Given the description of an element on the screen output the (x, y) to click on. 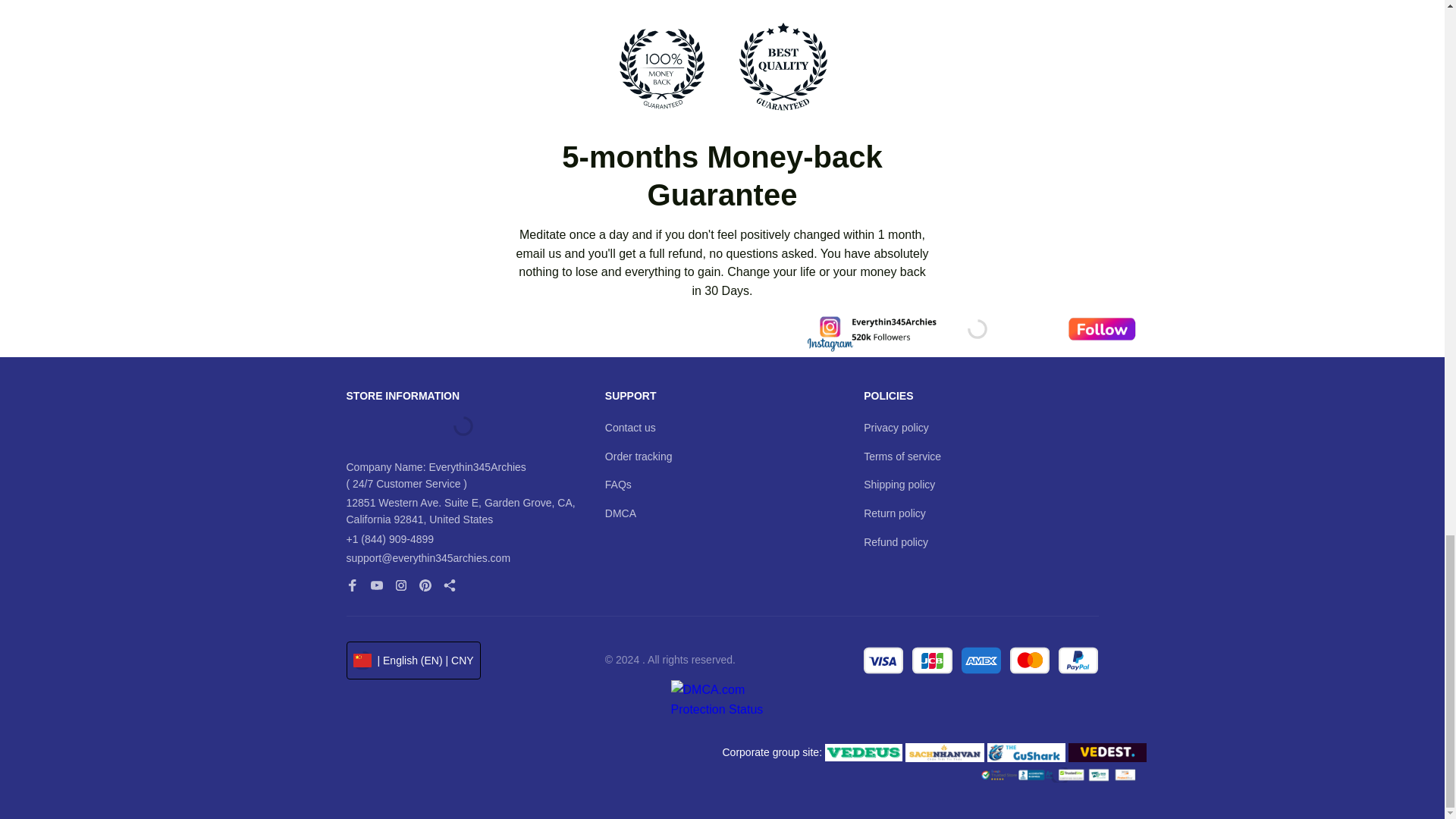
DMCA (620, 514)
Contact us (630, 428)
Refund policy (895, 542)
Terms of service (901, 456)
DMCA.com Protection Status (721, 708)
Shipping policy (898, 484)
Privacy policy (895, 428)
Order tracking (638, 456)
FAQs (618, 484)
Return policy (894, 514)
